Given the description of an element on the screen output the (x, y) to click on. 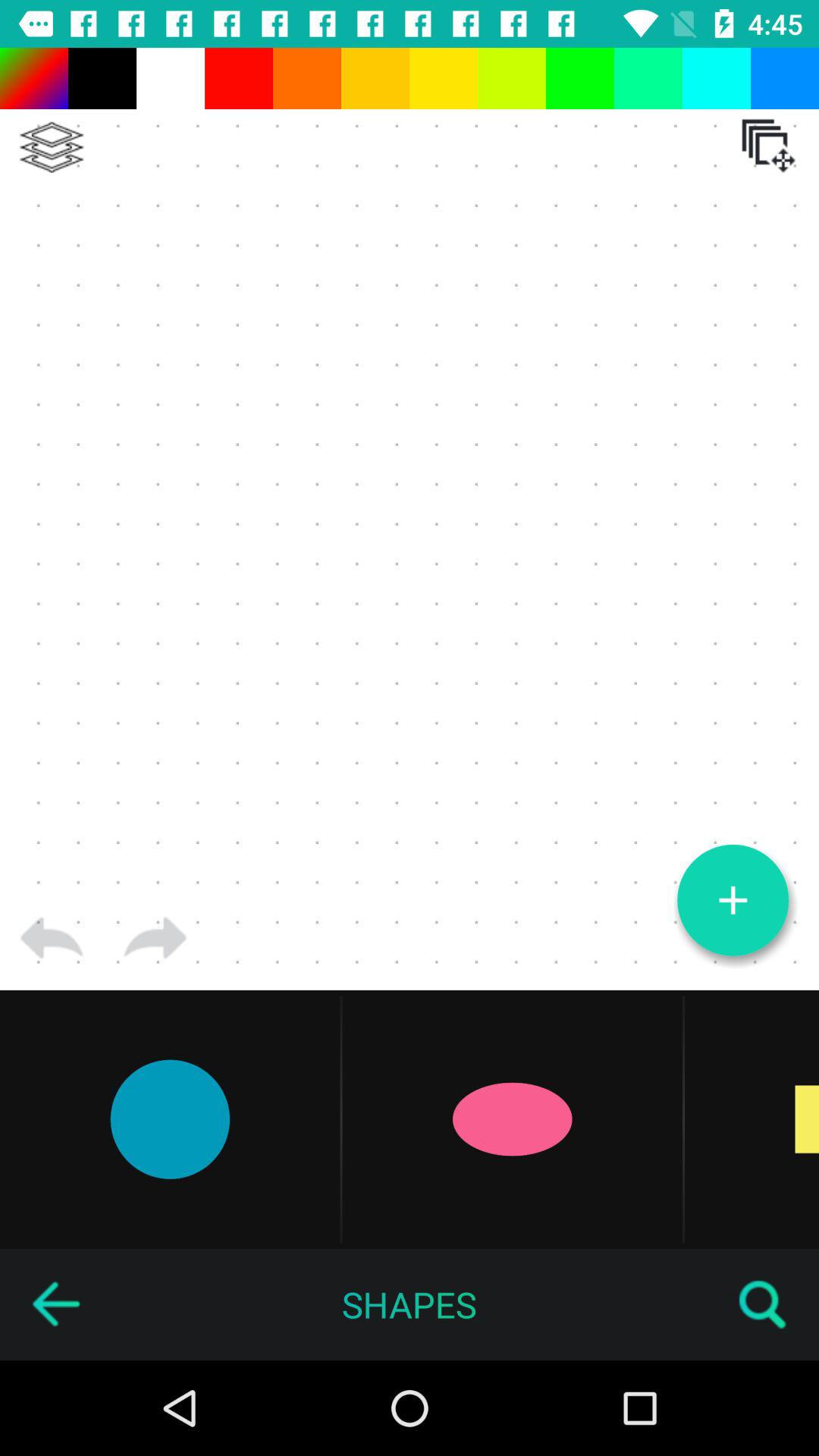
search a information (763, 1304)
